Given the description of an element on the screen output the (x, y) to click on. 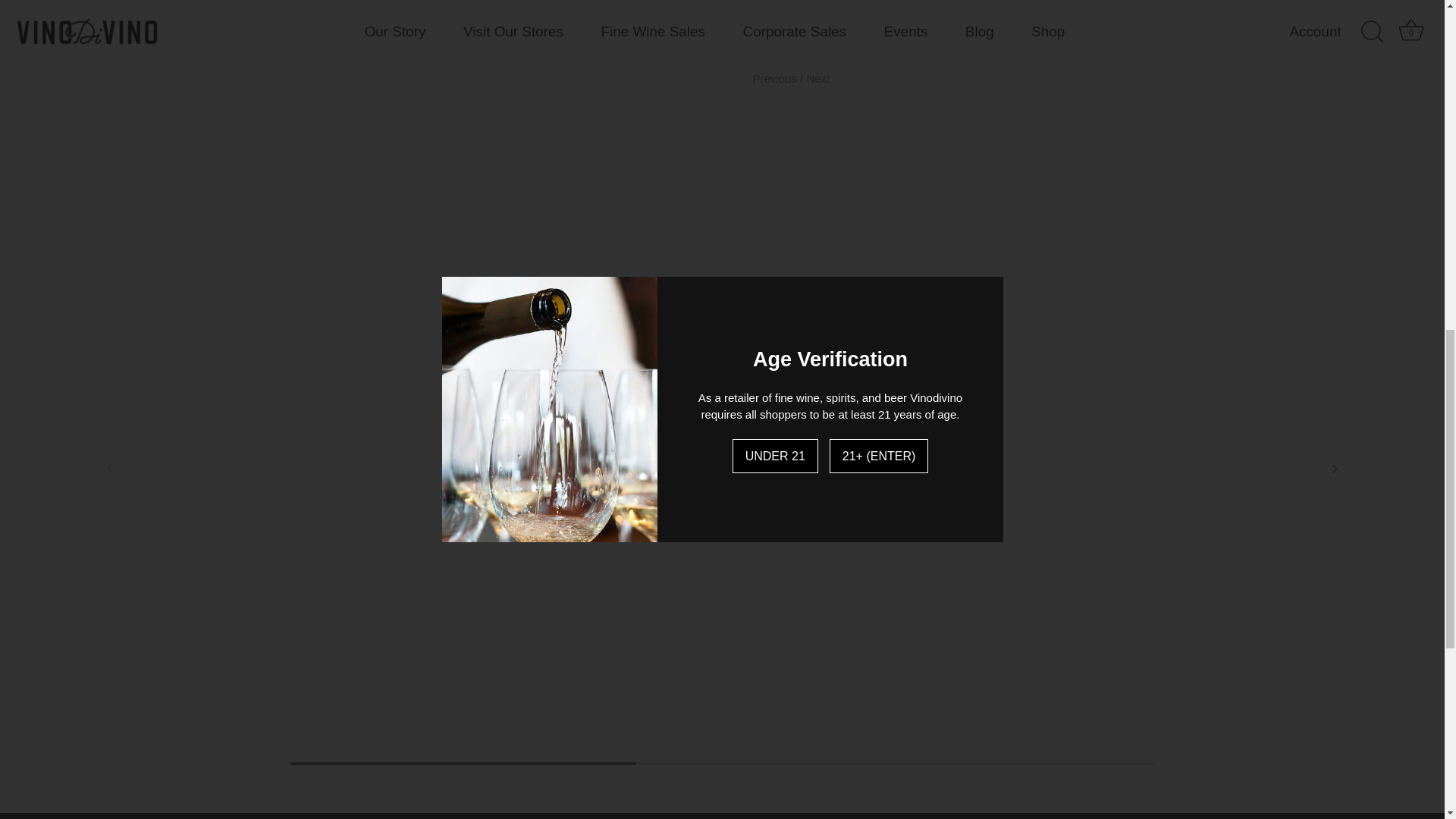
Gurrieri Vittoria Frappato (775, 78)
Previous (775, 78)
Clendenen Family Vineyards 2017 Chardonnay Bien Nacido (817, 78)
Check availability at other stores (841, 26)
Next (817, 78)
